Given the description of an element on the screen output the (x, y) to click on. 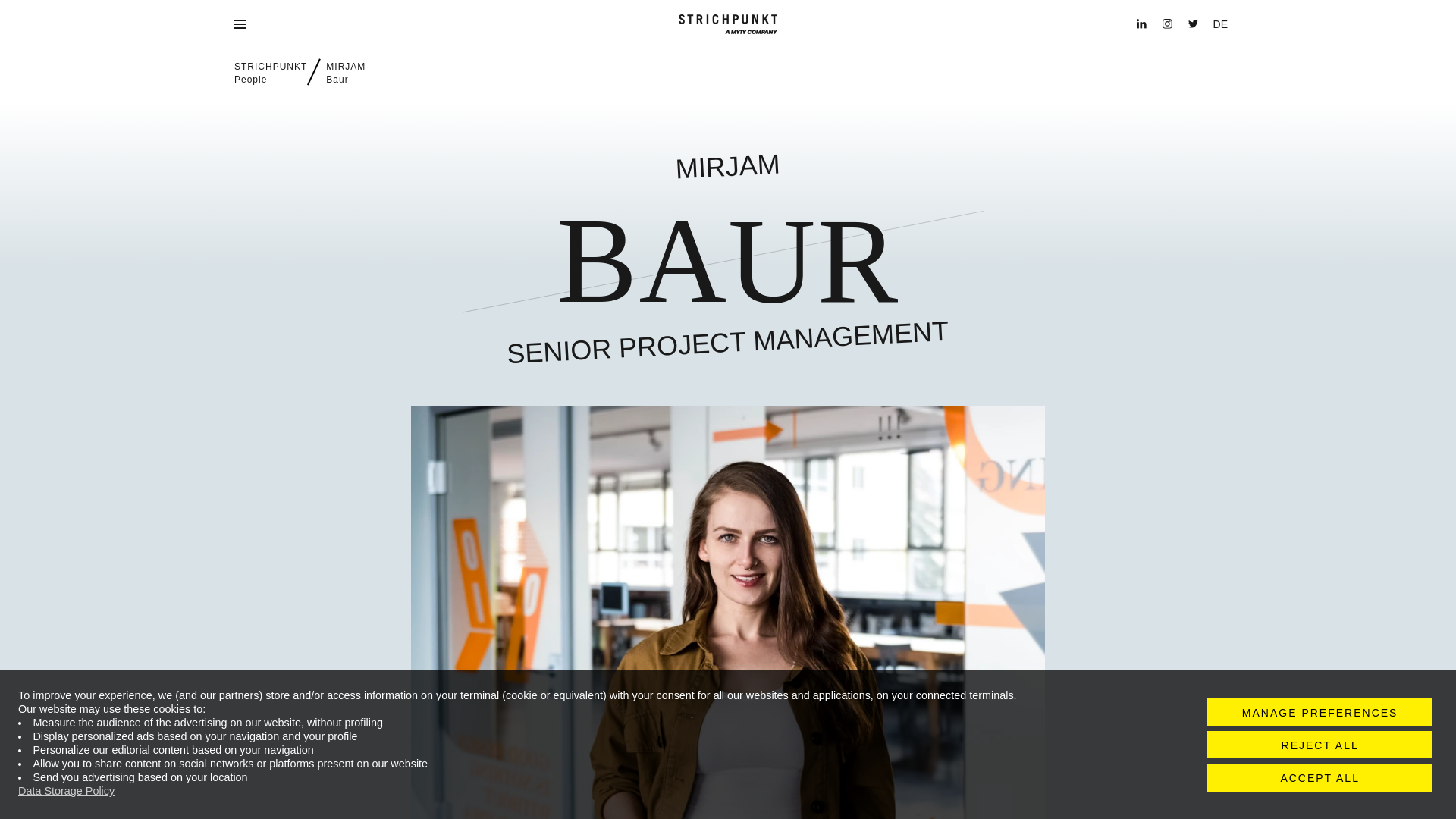
ACCEPT ALL (1319, 777)
DE (1219, 24)
Data Storage Policy (66, 790)
MANAGE PREFERENCES (270, 73)
REJECT ALL (1319, 711)
